Given the description of an element on the screen output the (x, y) to click on. 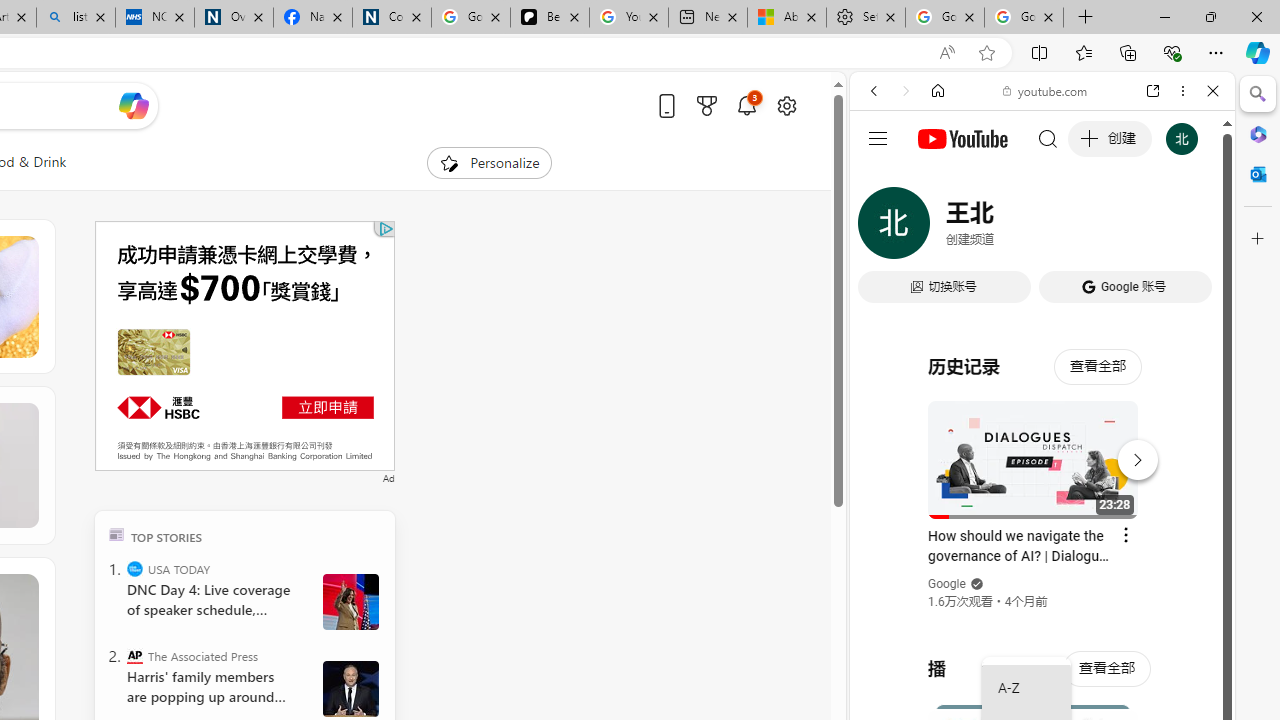
Aberdeen, Hong Kong SAR hourly forecast | Microsoft Weather (786, 17)
Google (947, 584)
Music (1042, 543)
Global web icon (888, 288)
IMAGES (939, 228)
youtube.com (1046, 90)
